Given the description of an element on the screen output the (x, y) to click on. 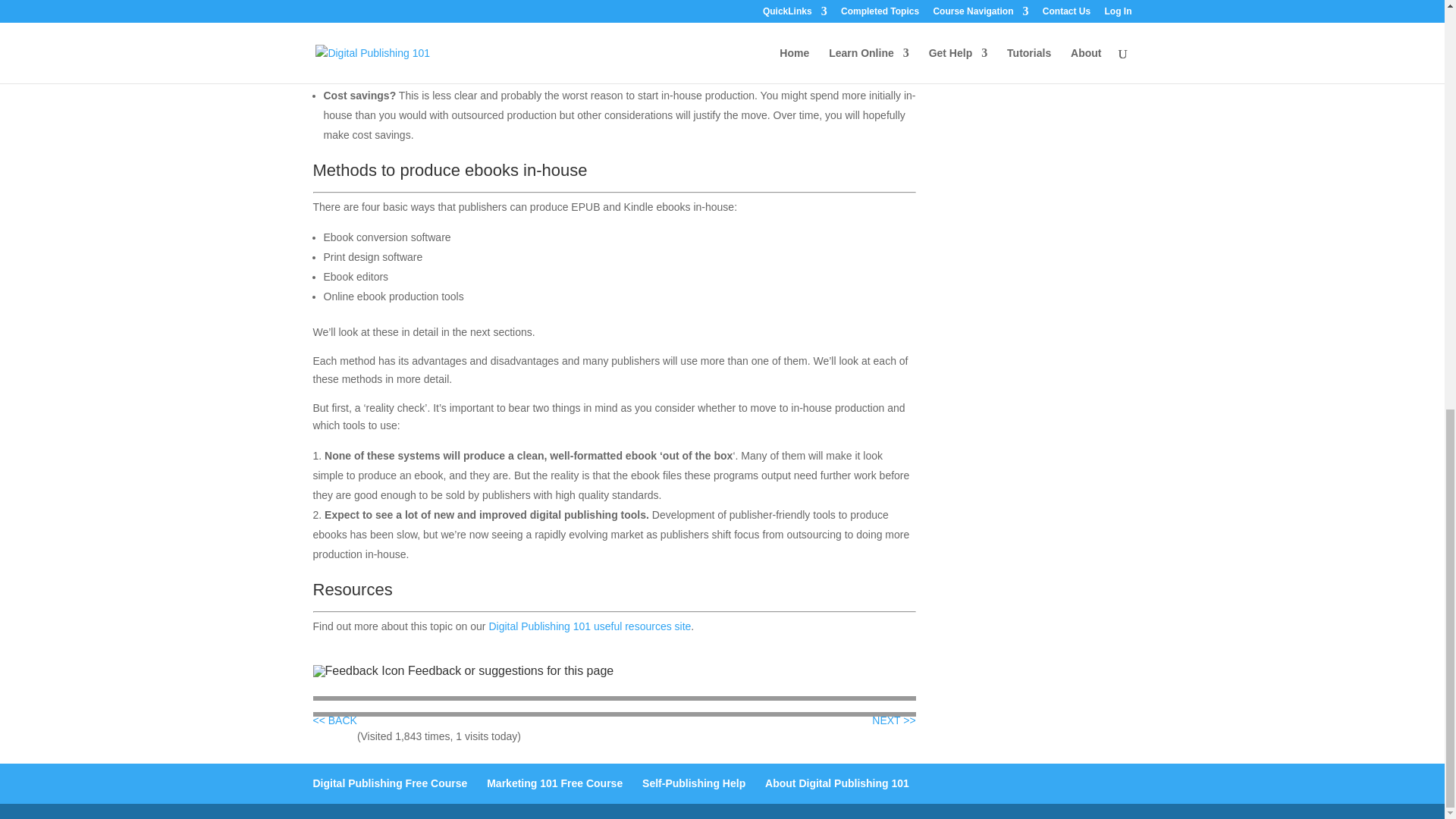
Feedback or suggestions for this page (509, 670)
Further resources (588, 625)
Contact course tutor (509, 670)
Feedback Icon (358, 671)
Hiring ebook designers (334, 720)
Digital Publishing 101 useful resources site (588, 625)
Ebook conversion software (893, 720)
